Given the description of an element on the screen output the (x, y) to click on. 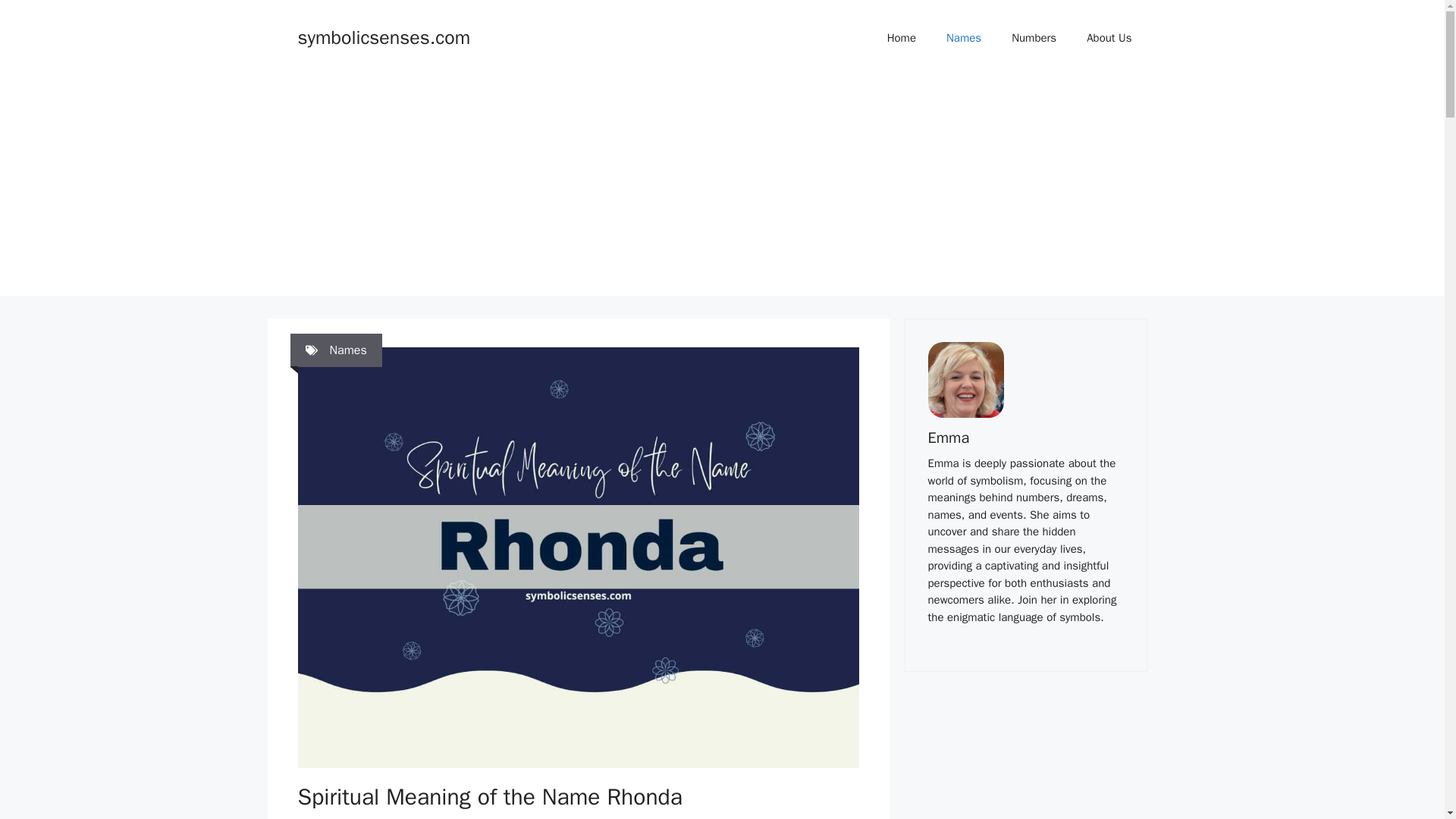
About Us (1109, 37)
symbolicsenses.com (383, 37)
Home (901, 37)
Advertisement (1025, 760)
Names (963, 37)
Names (347, 350)
emma (966, 379)
Numbers (1033, 37)
